Given the description of an element on the screen output the (x, y) to click on. 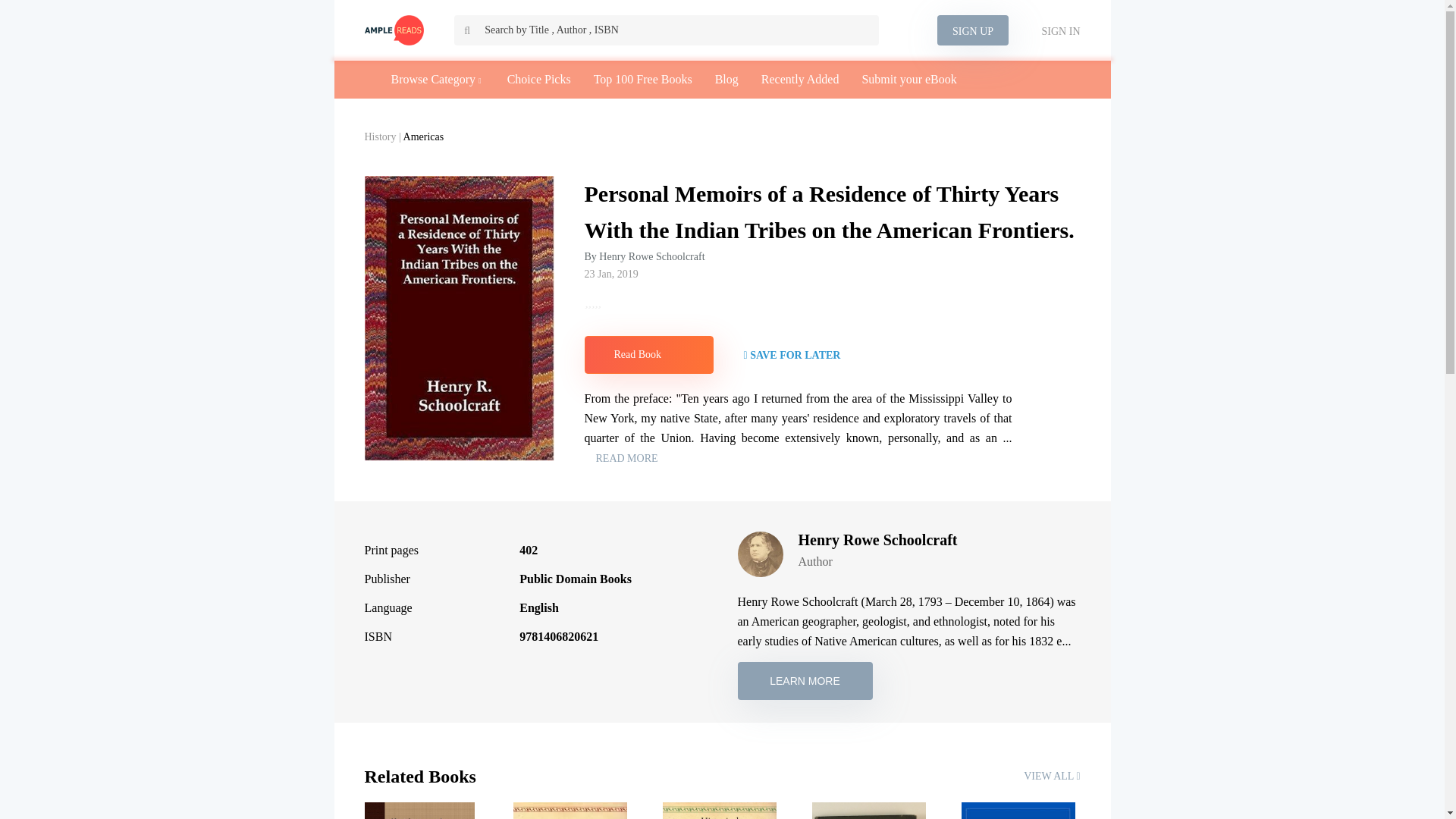
Browse Category (433, 78)
SIGN UP (973, 30)
Choice Picks (538, 78)
